Given the description of an element on the screen output the (x, y) to click on. 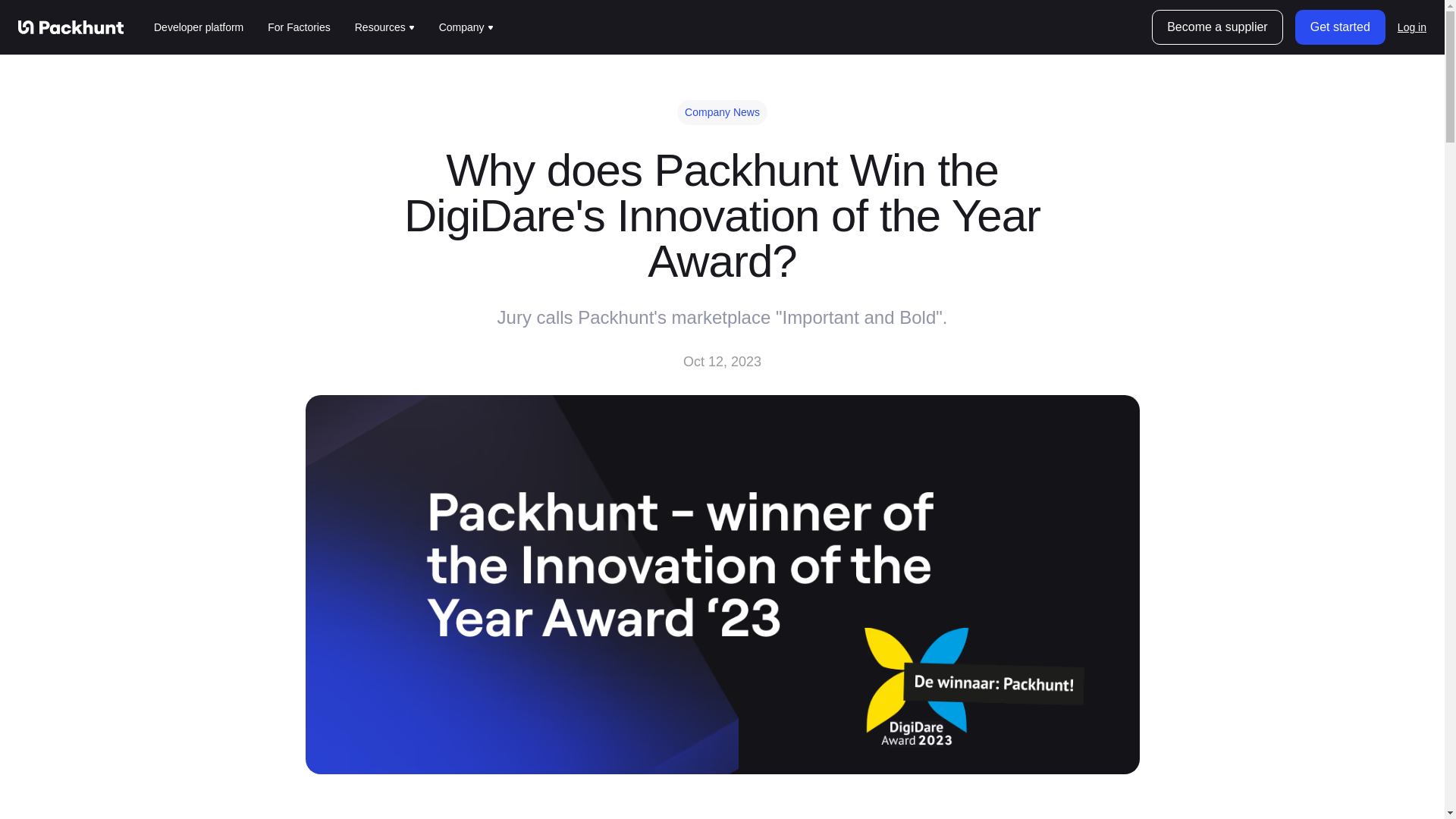
Get started (1340, 27)
For Factories (298, 27)
Log in (1411, 27)
Become a supplier (1216, 27)
Developer platform (198, 27)
